Given the description of an element on the screen output the (x, y) to click on. 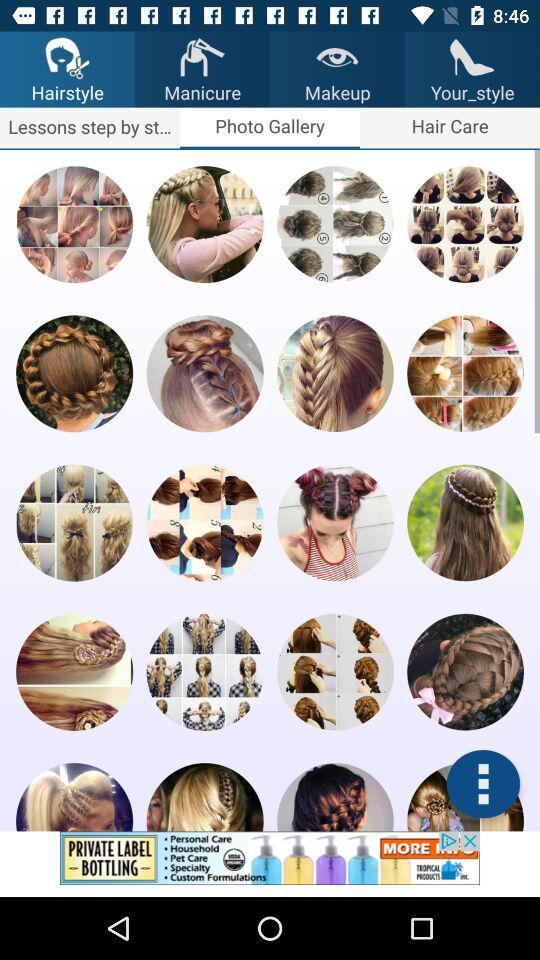
add the picture (270, 864)
